Given the description of an element on the screen output the (x, y) to click on. 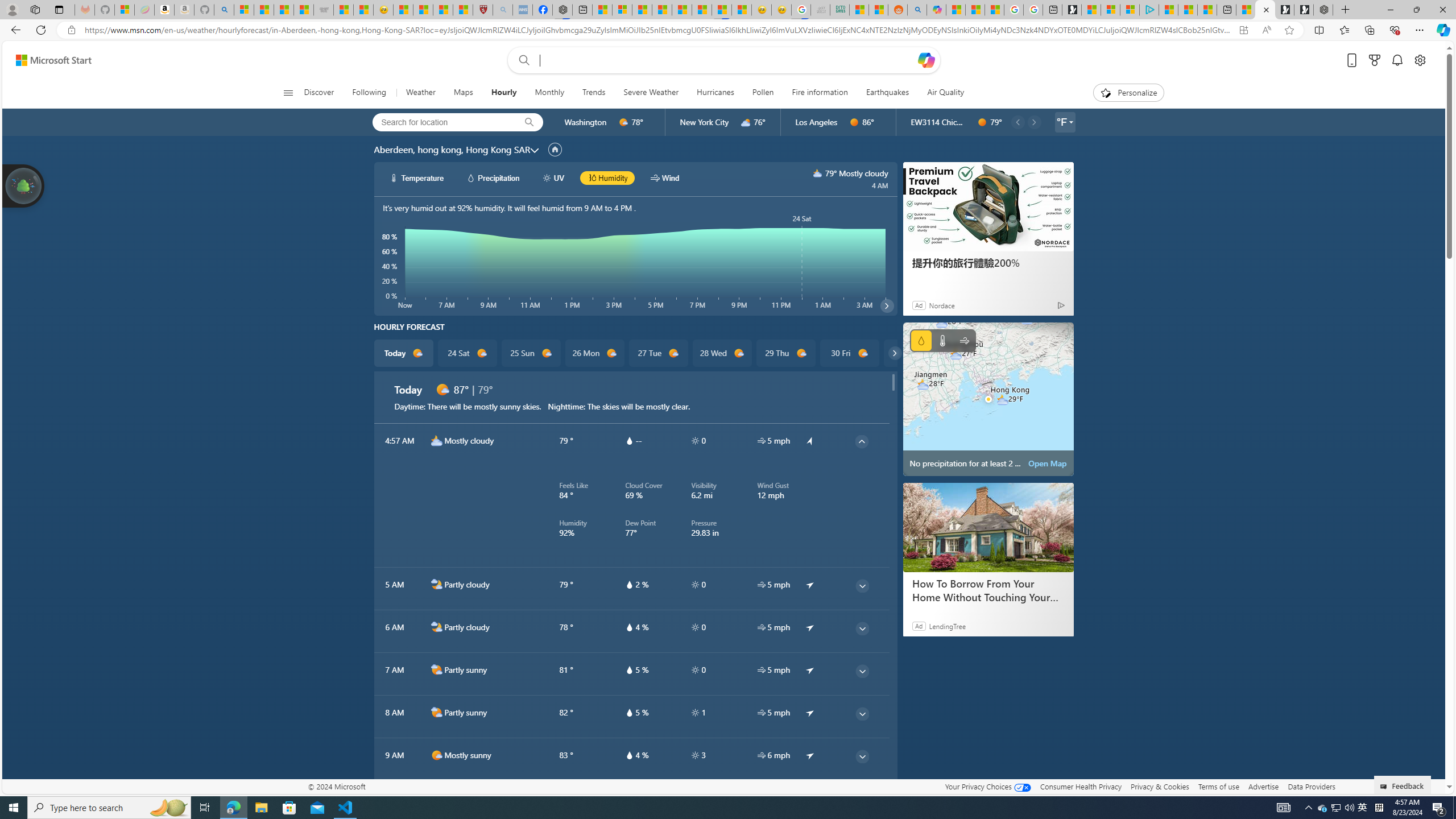
locationBar/triangle (1070, 122)
hourlyChart/windWhite (655, 177)
Severe Weather (651, 92)
Hurricanes (715, 92)
common/carouselChevron (894, 352)
Your Privacy Choices (987, 786)
Severe Weather (650, 92)
